Given the description of an element on the screen output the (x, y) to click on. 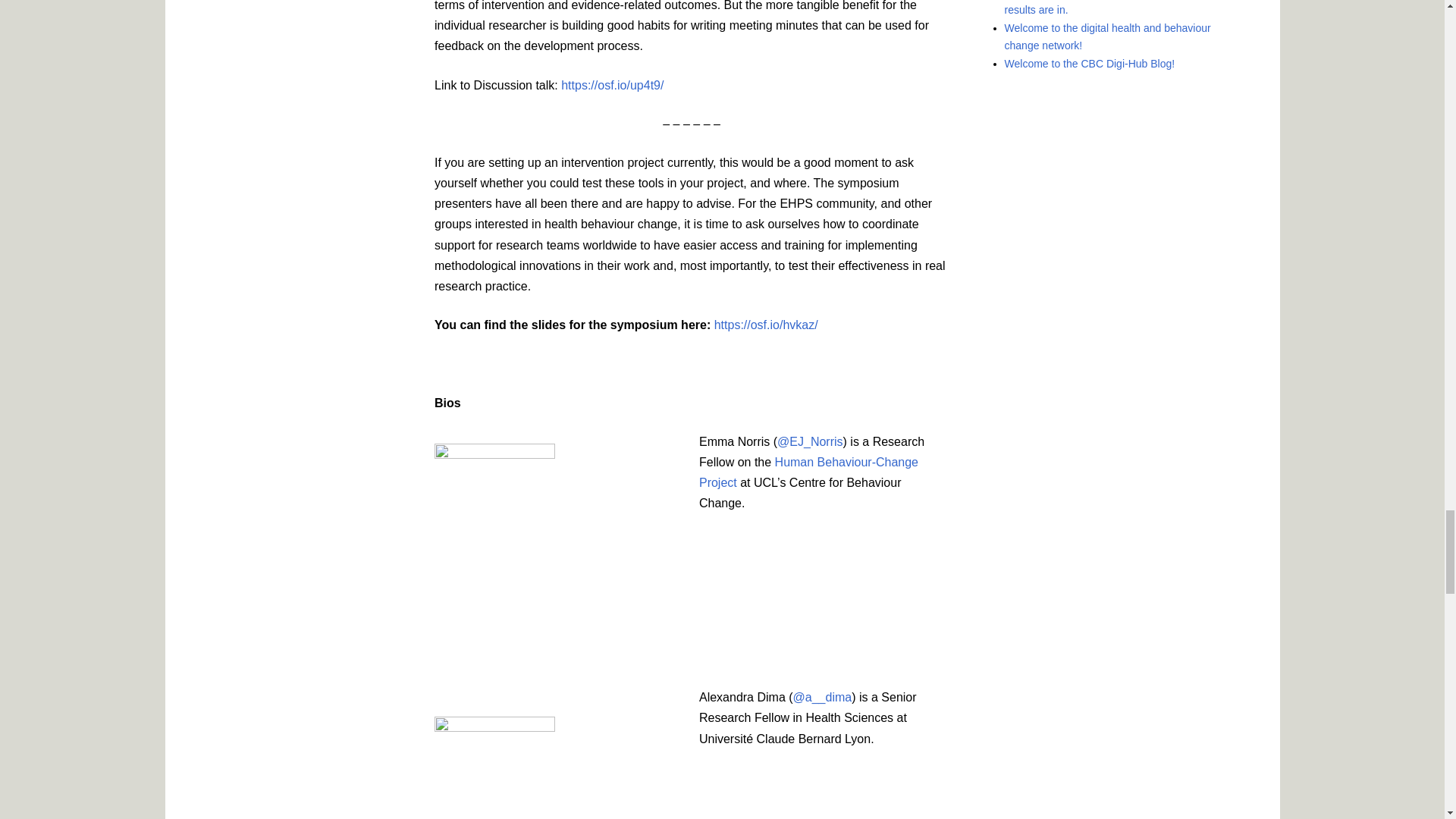
Human Behaviour-Change Project (808, 471)
